Given the description of an element on the screen output the (x, y) to click on. 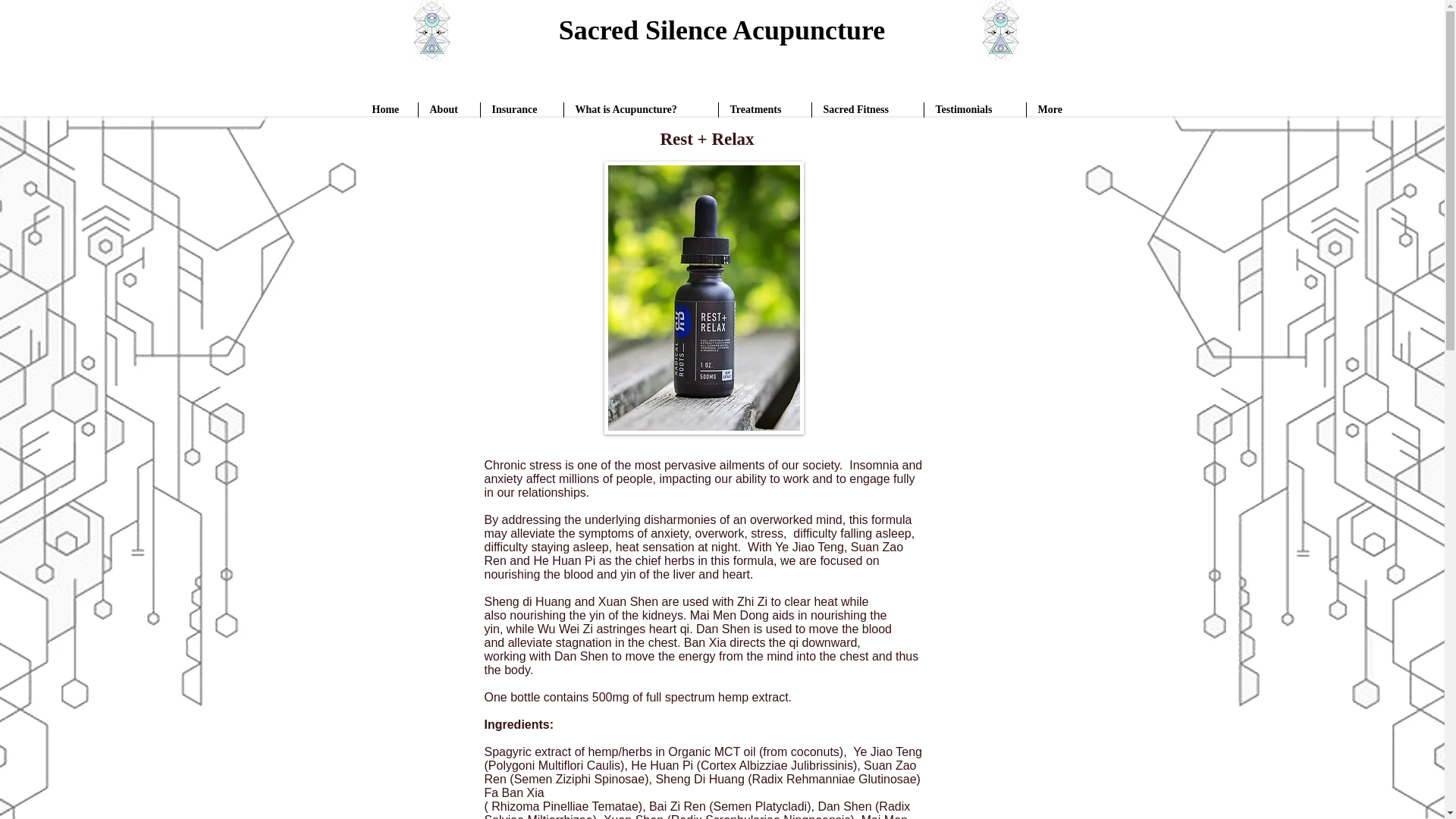
Home (389, 109)
About (449, 109)
Sacred Fitness (866, 109)
Treatments (764, 109)
What is Acupuncture? (640, 109)
Insurance (521, 109)
Testimonials (974, 109)
